Given the description of an element on the screen output the (x, y) to click on. 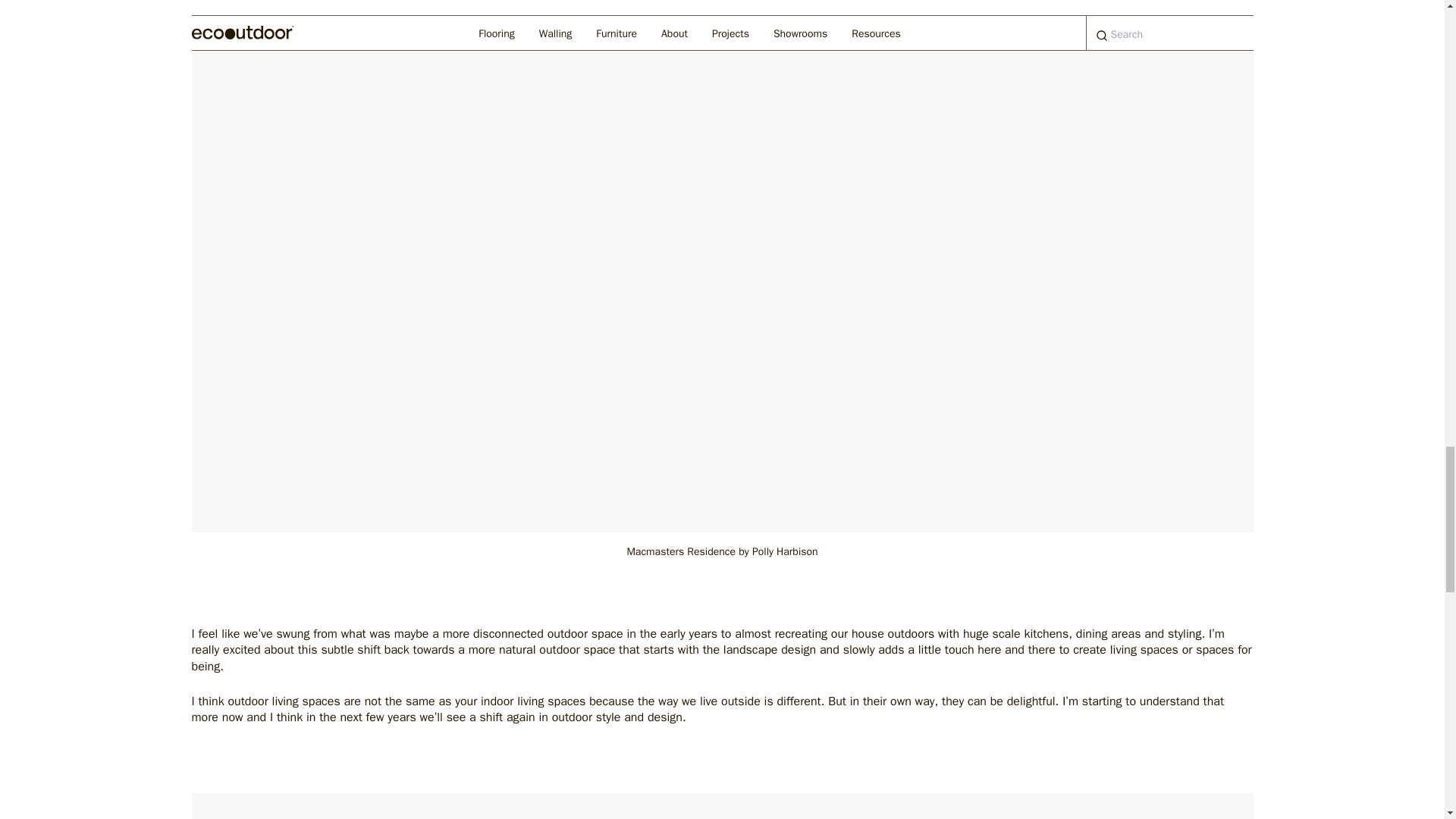
Untitled 01 (721, 806)
